Given the description of an element on the screen output the (x, y) to click on. 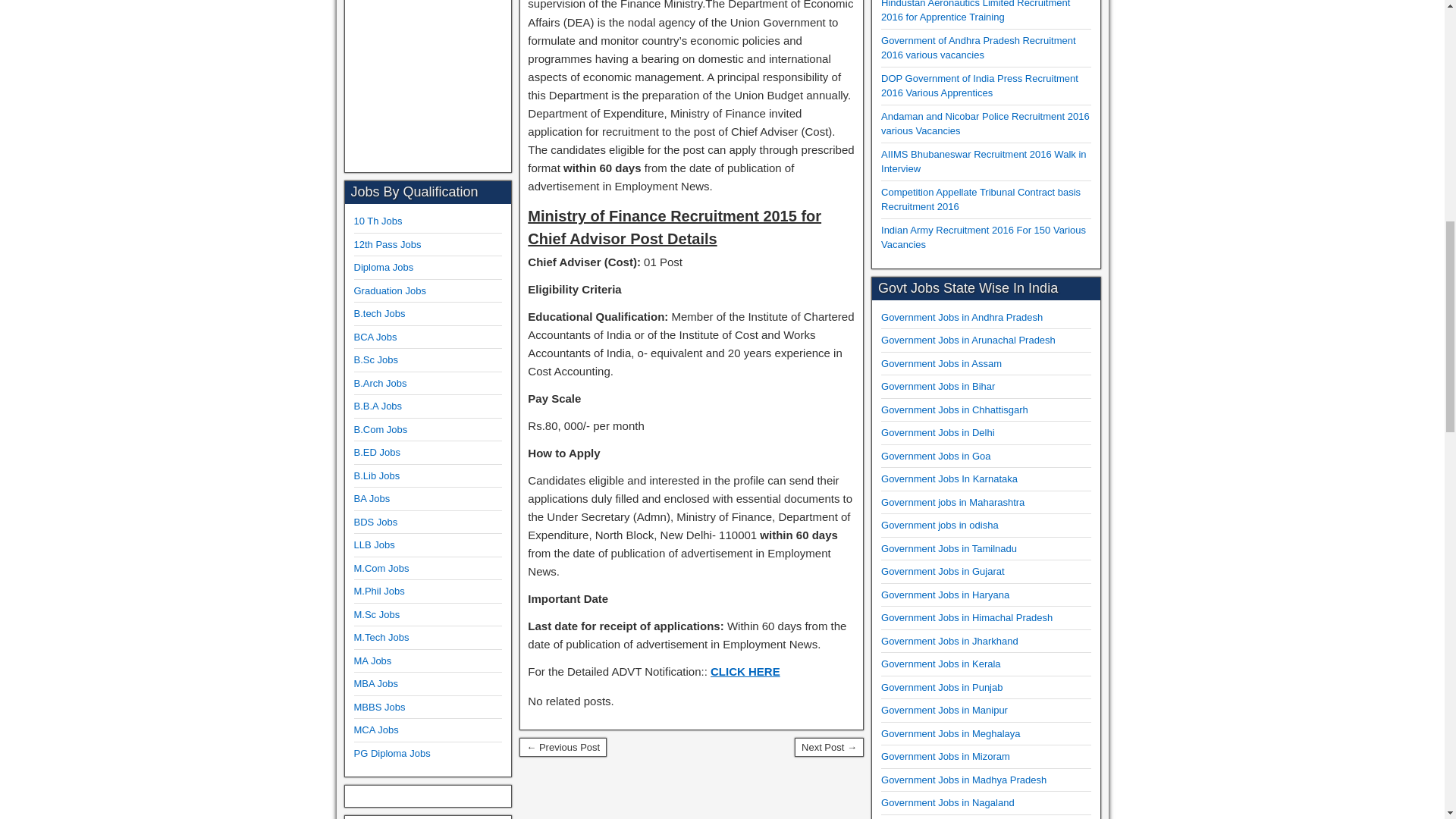
BCA Jobs (374, 337)
M.Com Jobs (381, 568)
B.tech Jobs (378, 313)
Bose Institute Kolkata Recruitment 2015 for RA Posts (563, 747)
B.Arch Jobs (379, 383)
MA Jobs (372, 660)
BA Jobs (371, 498)
Diploma Jobs (383, 266)
B.B.A Jobs (377, 405)
Graduation Jobs (389, 290)
B.ED Jobs (375, 451)
MBA Jobs (375, 683)
Ministry of Defence Recruitment 2015 for Various Civil Posts (828, 747)
12th Pass Jobs (386, 244)
BDS Jobs (375, 521)
